Given the description of an element on the screen output the (x, y) to click on. 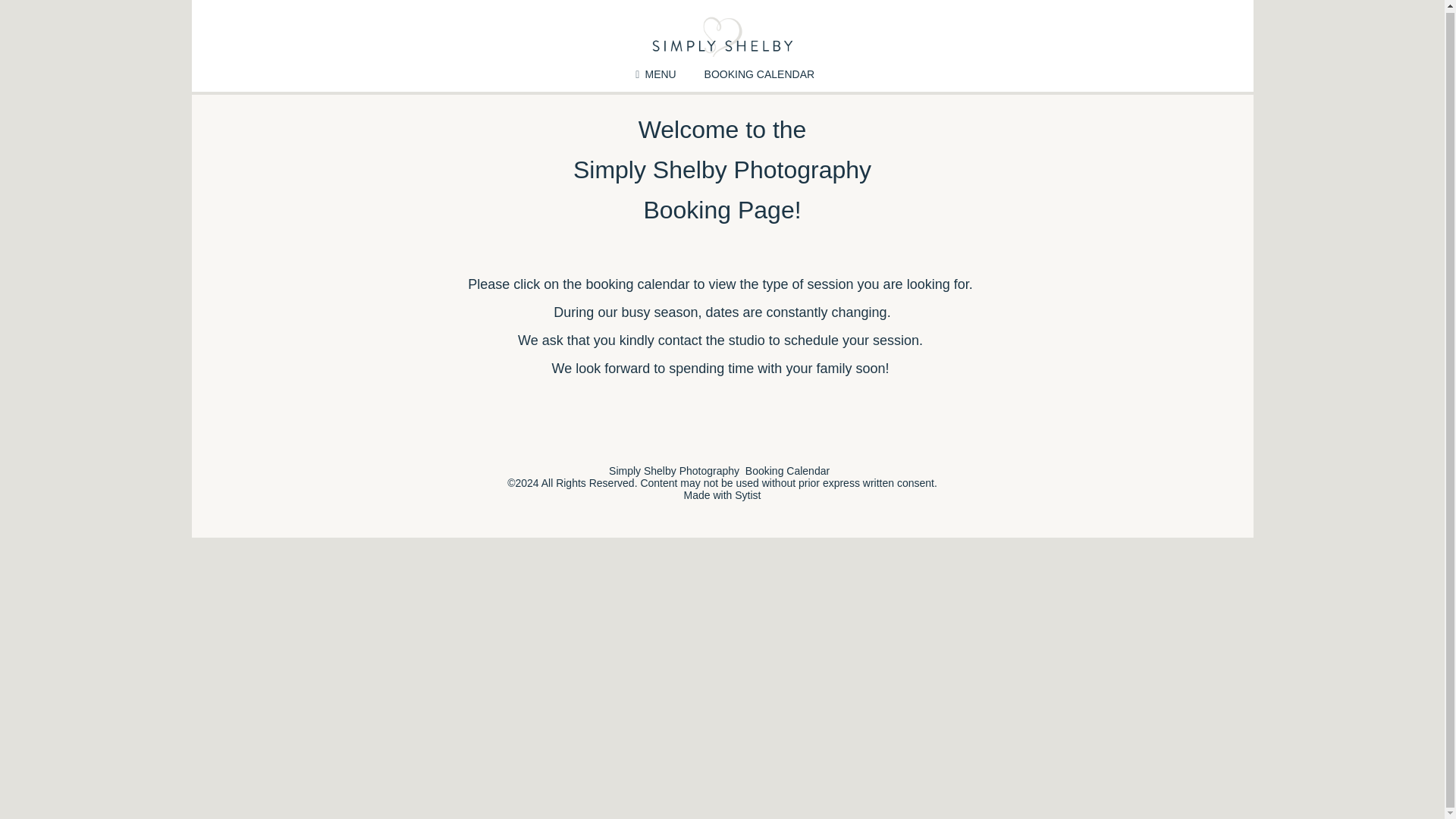
Simply Shelby Photography (673, 470)
MENU (652, 73)
Made with Sytist (722, 494)
BOOKING CALENDAR (759, 73)
Booking Calendar (787, 470)
